Given the description of an element on the screen output the (x, y) to click on. 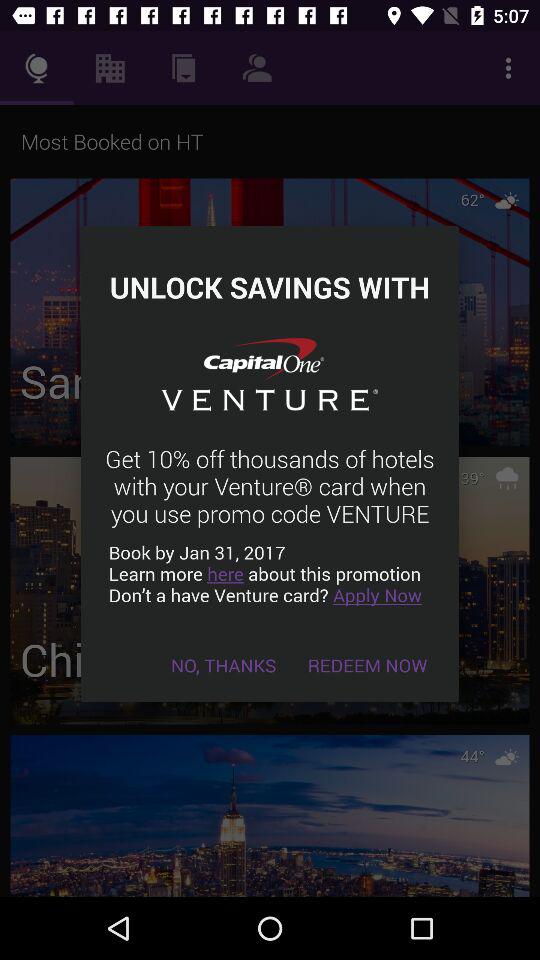
open the redeem now (367, 664)
